Given the description of an element on the screen output the (x, y) to click on. 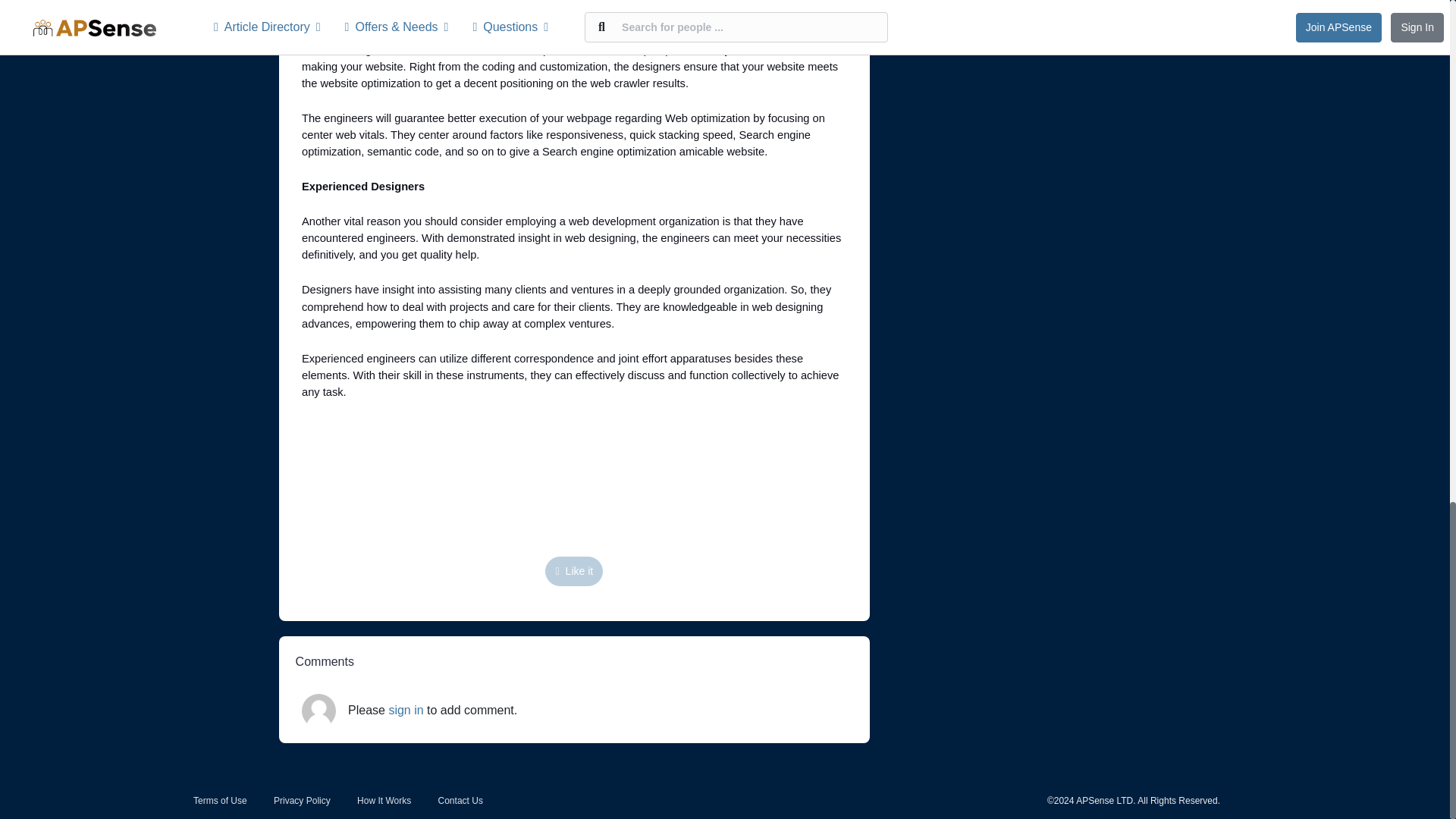
Like it (573, 571)
sign in (405, 709)
Terms of Use (220, 800)
